Given the description of an element on the screen output the (x, y) to click on. 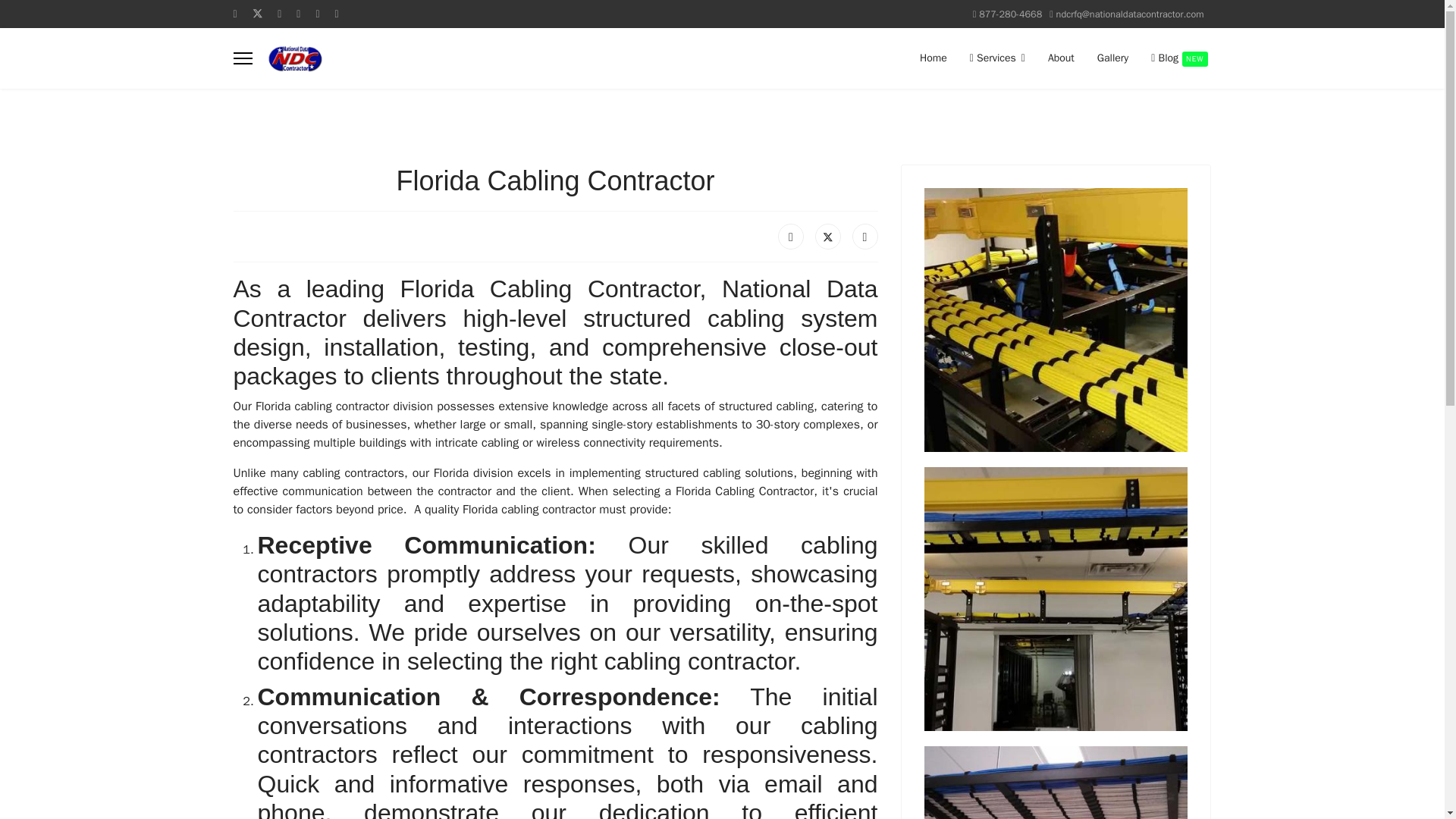
877-280-4668 (1010, 14)
Facebook (790, 236)
LinkedIn (864, 236)
Cabling Contractor Rack Building Vert Overhead (1055, 598)
Cabling Contractor Combing Cables On Ladder Tray (1055, 320)
Services (997, 57)
Cabling Contractor Combing Trunl Cables (1055, 782)
